Given the description of an element on the screen output the (x, y) to click on. 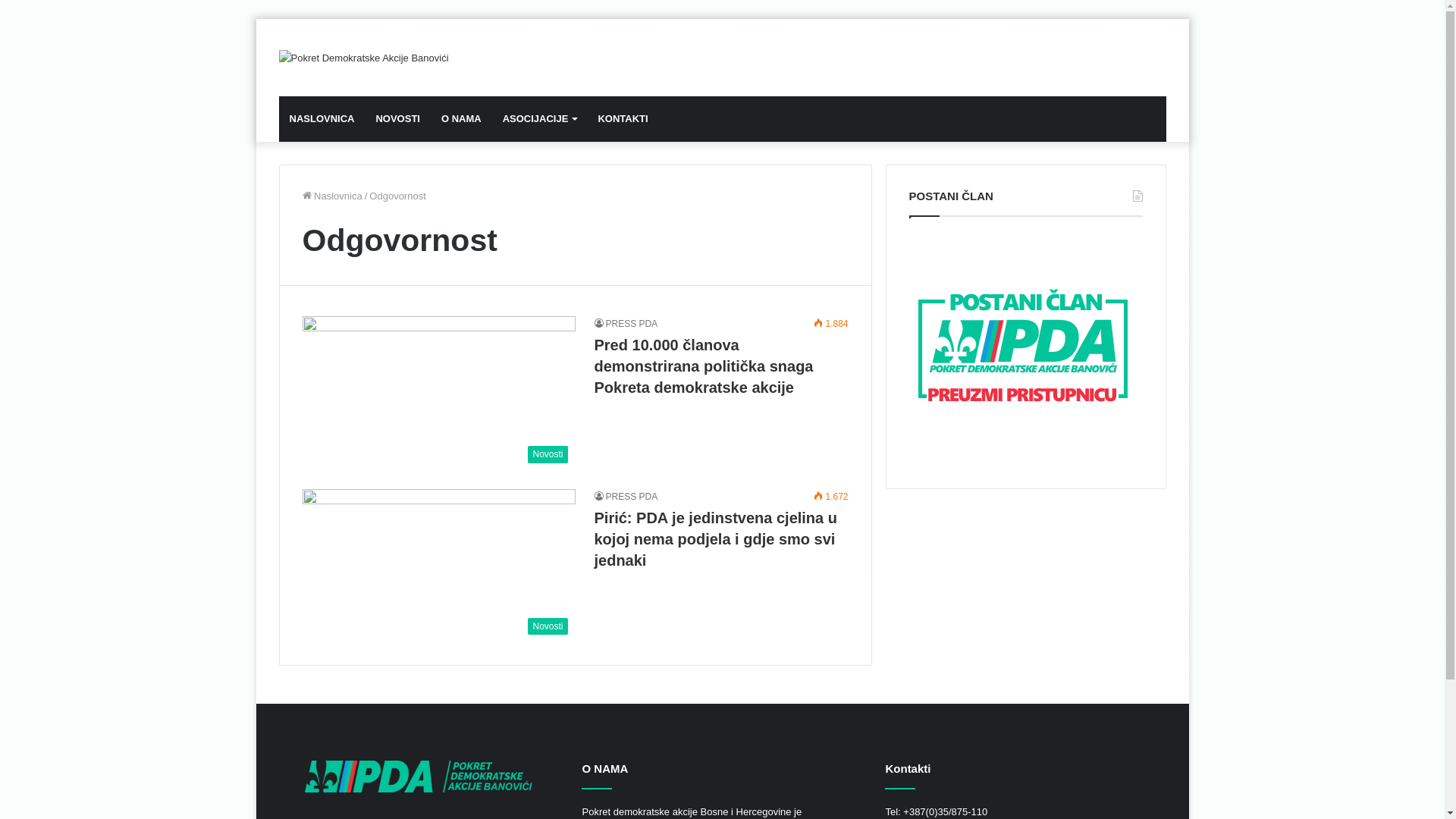
NASLOVNICA Element type: text (322, 118)
Novosti Element type: text (437, 566)
Naslovnica Element type: text (331, 195)
PRESS PDA Element type: text (626, 496)
PRESS PDA Element type: text (626, 323)
KONTAKTI Element type: text (622, 118)
O NAMA Element type: text (461, 118)
ASOCIJACIJE Element type: text (539, 118)
Novosti Element type: text (437, 393)
NOVOSTI Element type: text (397, 118)
